Given the description of an element on the screen output the (x, y) to click on. 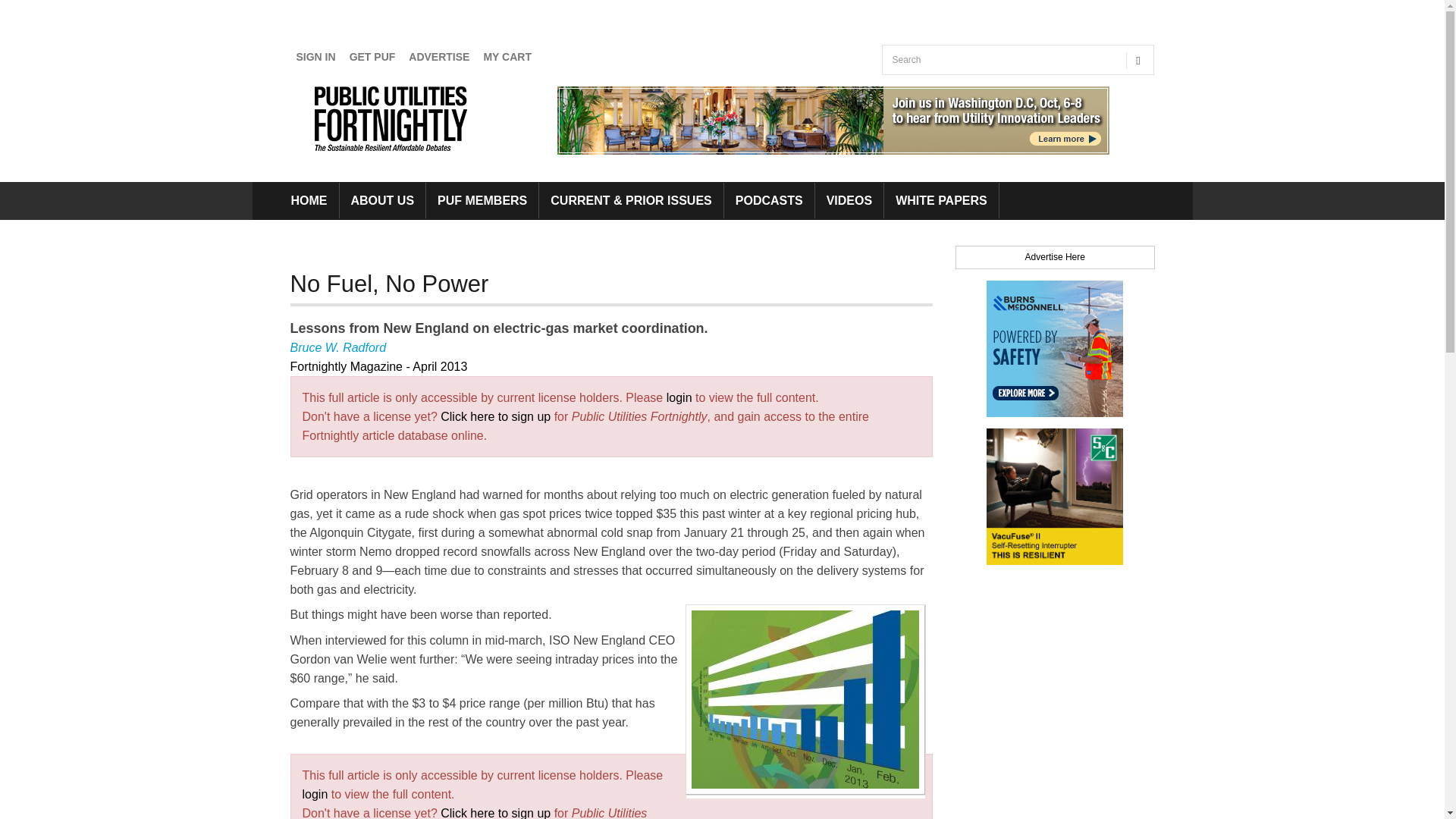
Enter the terms you wish to search for. (1001, 60)
ABOUT US (382, 200)
Home (393, 118)
MY CART (507, 57)
Click here to sign up (495, 416)
ADVERTISE (439, 57)
SIGN IN (314, 57)
WHITE PAPERS (940, 200)
HOME (308, 200)
login (679, 397)
Fortnightly Magazine - April 2013 (378, 366)
Click here to sign up (495, 812)
VIDEOS (849, 200)
Search (898, 90)
